Given the description of an element on the screen output the (x, y) to click on. 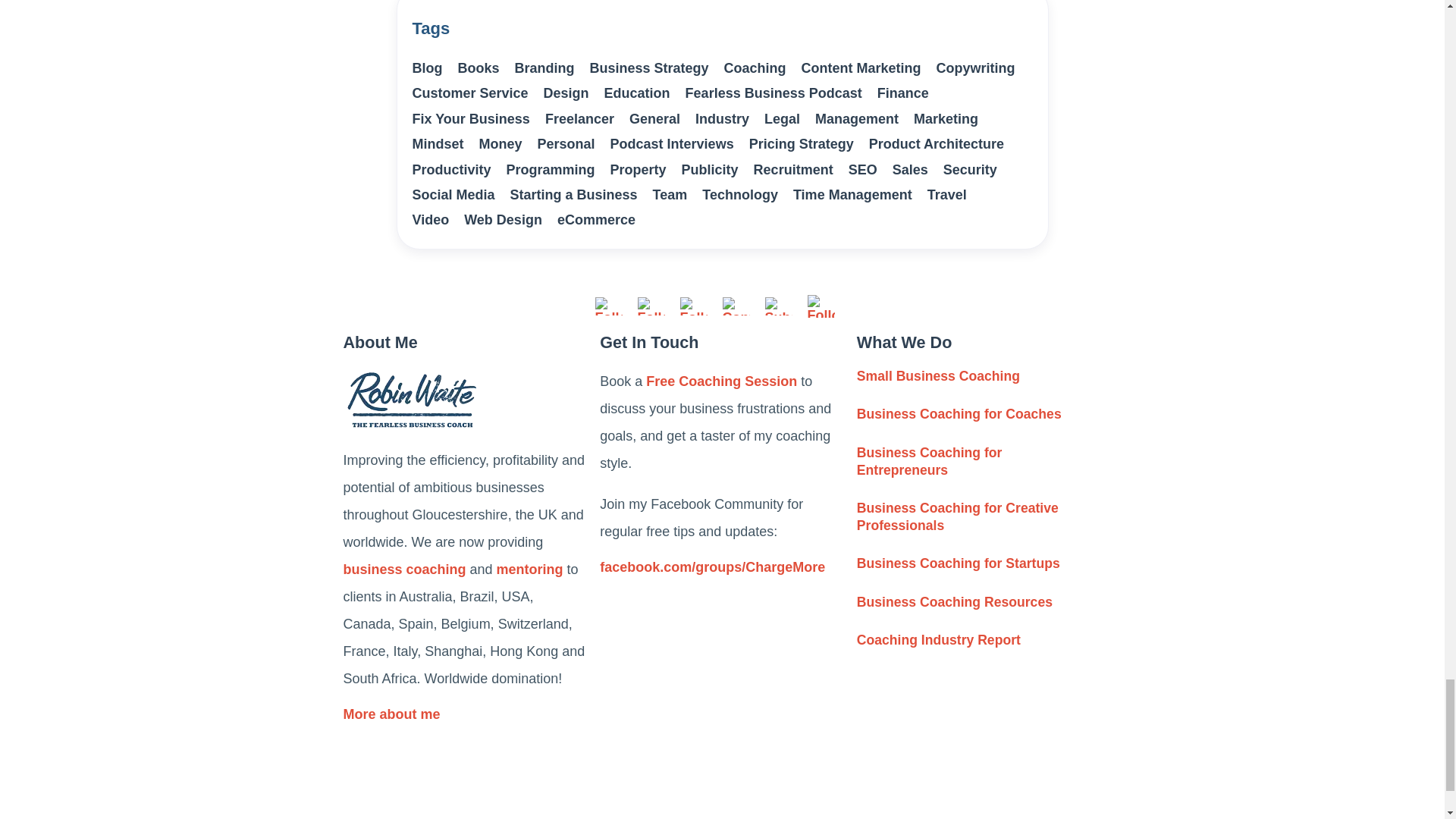
Books (478, 68)
Small Business Coaching (942, 375)
Coaching (754, 68)
Branding (545, 68)
Business Coaching Strategies (962, 414)
Business Mentor Coaching Company (394, 714)
Join the Confidently Charge More Facebook Group (721, 570)
Small Business Coaching (979, 516)
Customer Service (470, 92)
Copywriting (975, 68)
